Given the description of an element on the screen output the (x, y) to click on. 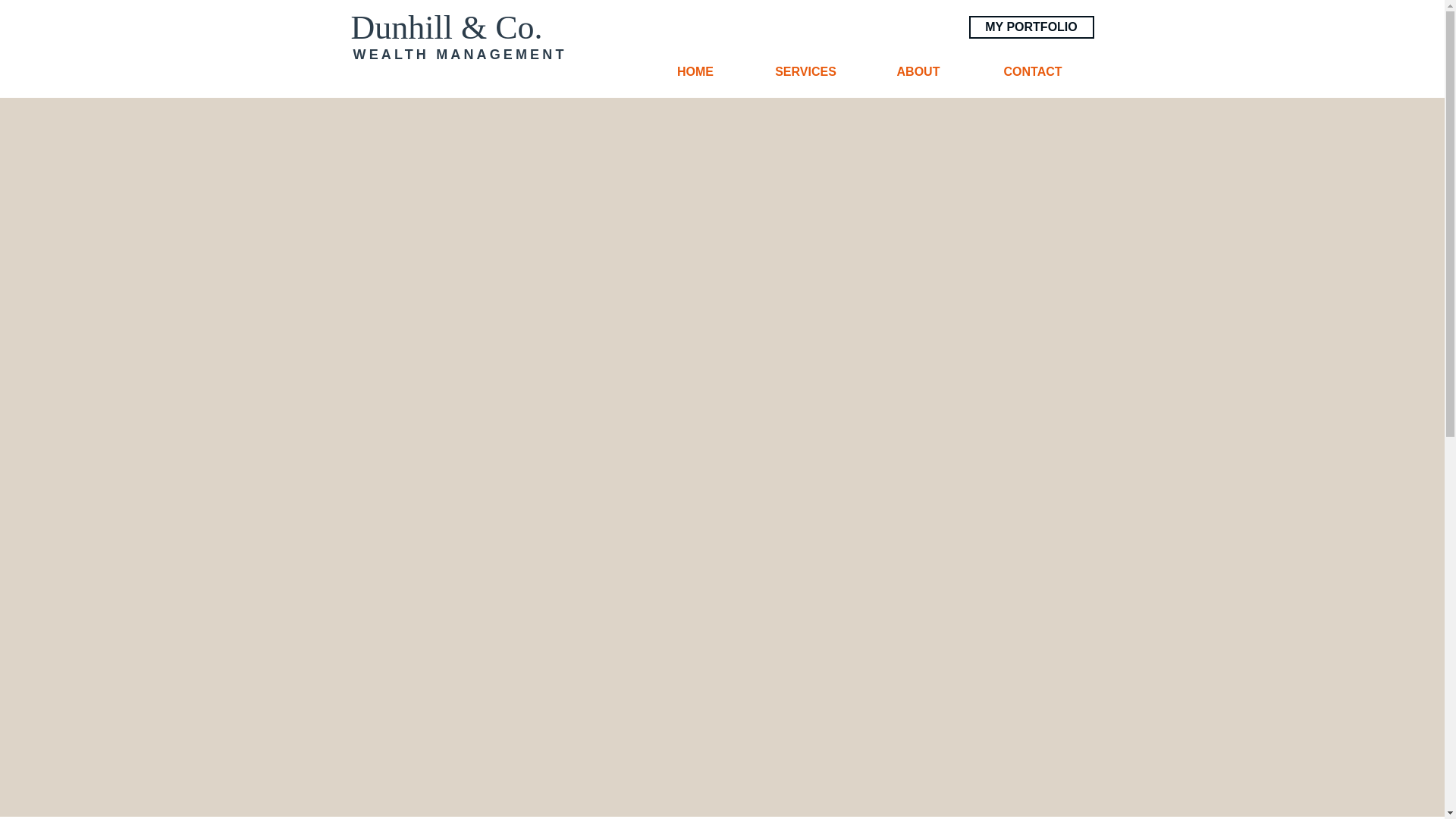
WEALTH MANAGEMENT (460, 54)
ABOUT (917, 70)
MY PORTFOLIO (1031, 26)
CONTACT (1033, 70)
HOME (695, 70)
